Given the description of an element on the screen output the (x, y) to click on. 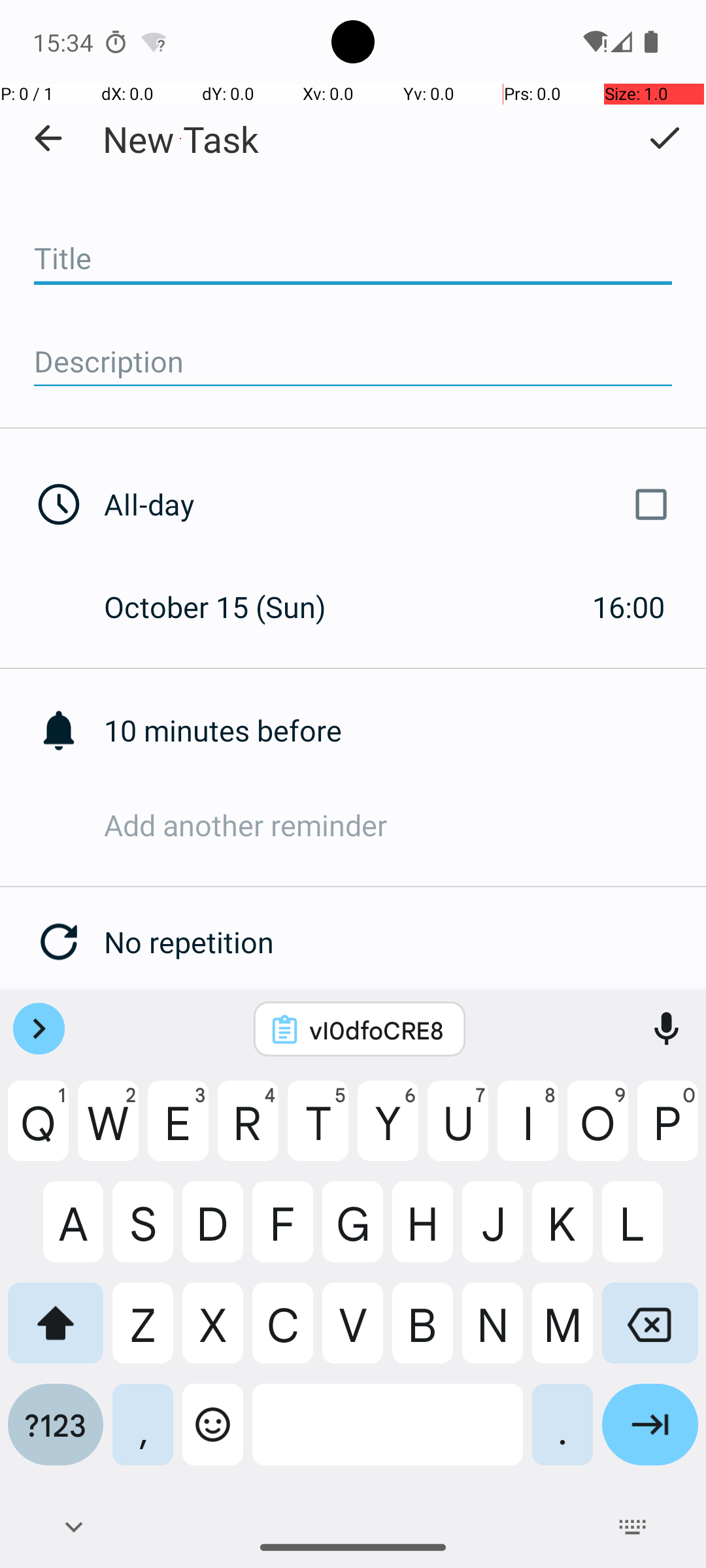
vI0dfoCRE8 Element type: android.widget.TextView (376, 1029)
